Given the description of an element on the screen output the (x, y) to click on. 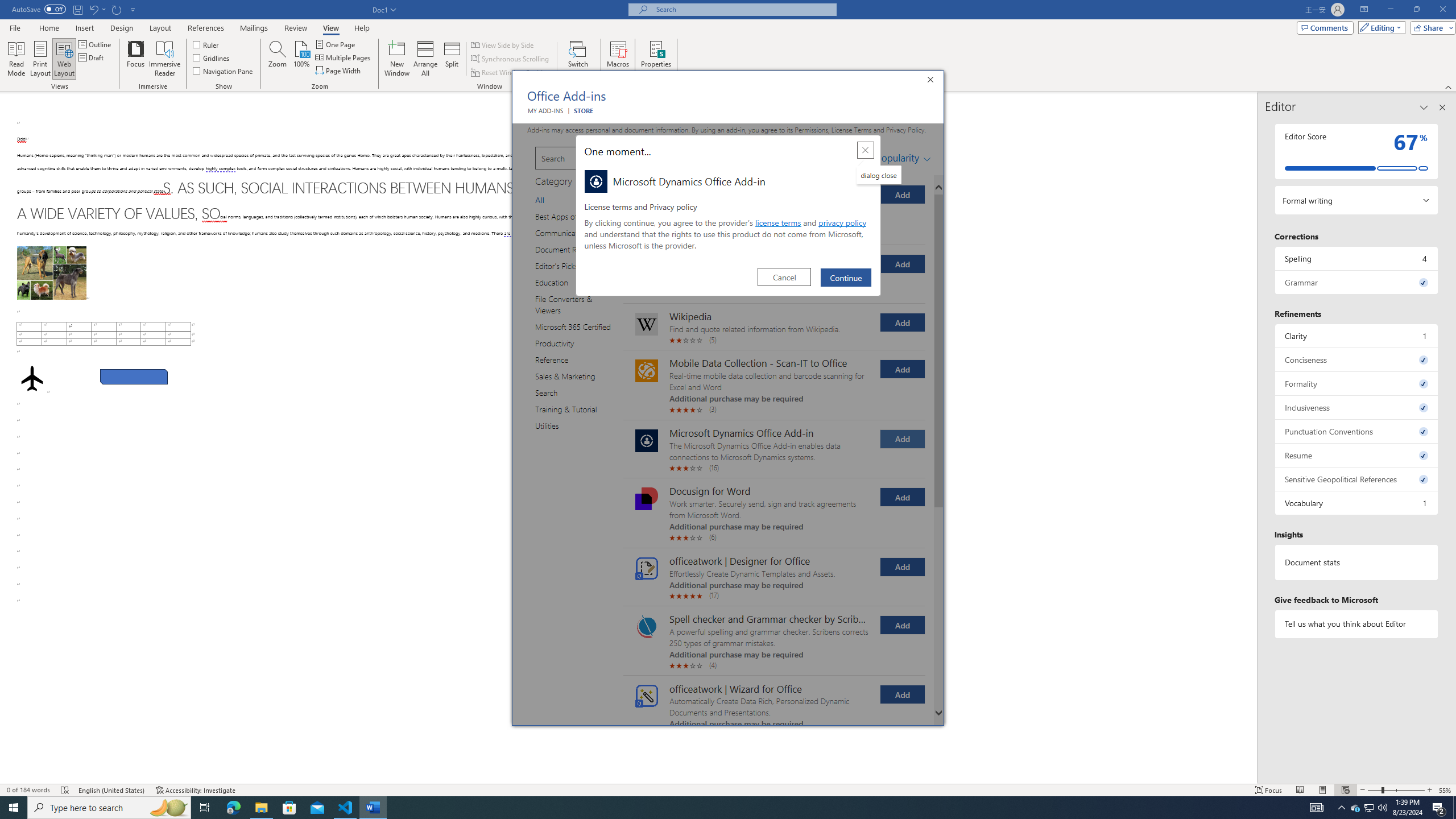
Zoom 55% (1445, 790)
View Macros (617, 48)
Editing (1379, 27)
View Side by Side (502, 44)
Airplane with solid fill (31, 378)
Synchronous Scrolling (510, 58)
Spelling, 4 issues. Press space or enter to review items. (1356, 258)
dialog close (878, 174)
Navigation Pane (223, 69)
Word - 1 running window (373, 807)
